Given the description of an element on the screen output the (x, y) to click on. 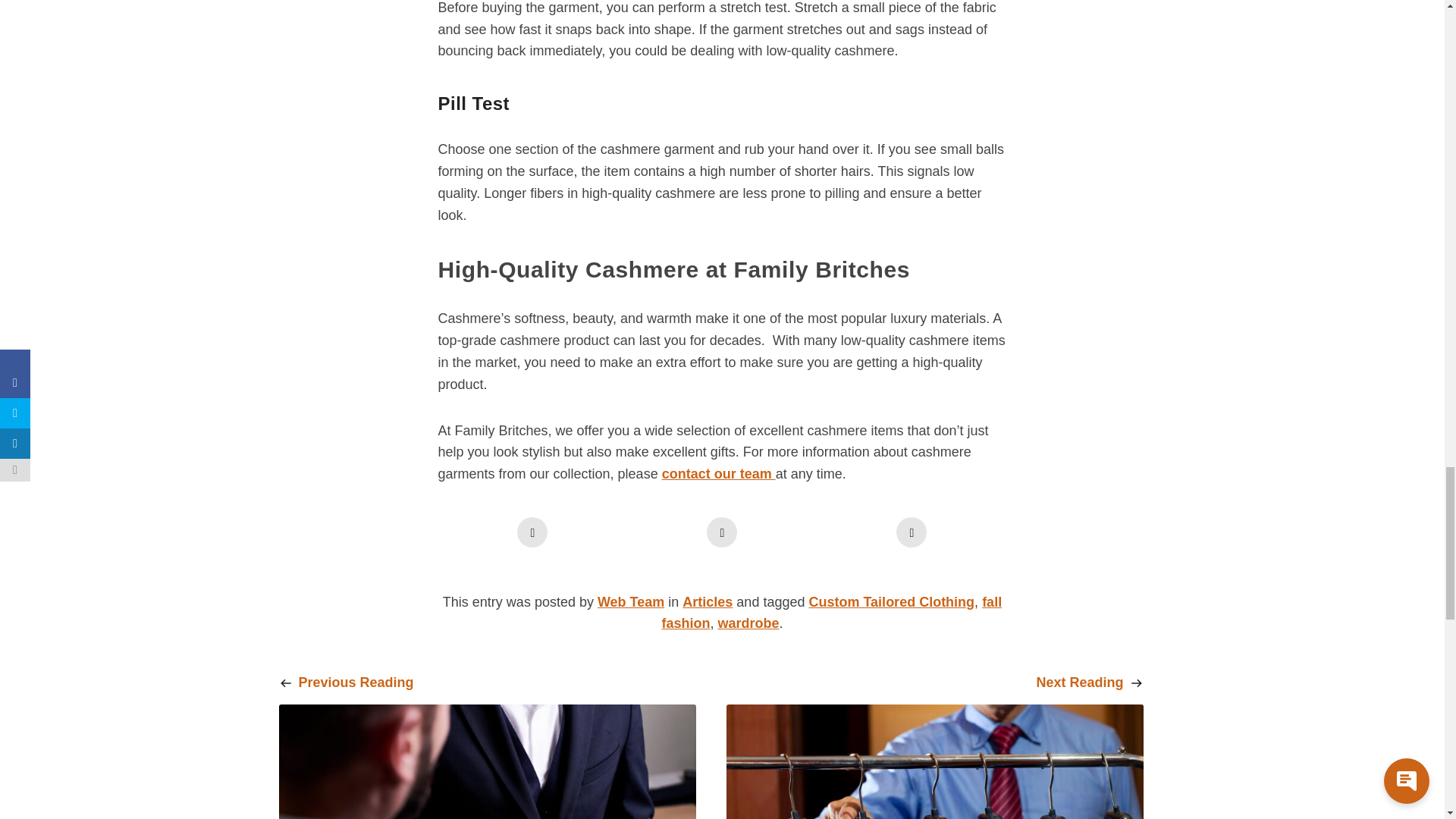
View all posts by Web Team (629, 601)
